Given the description of an element on the screen output the (x, y) to click on. 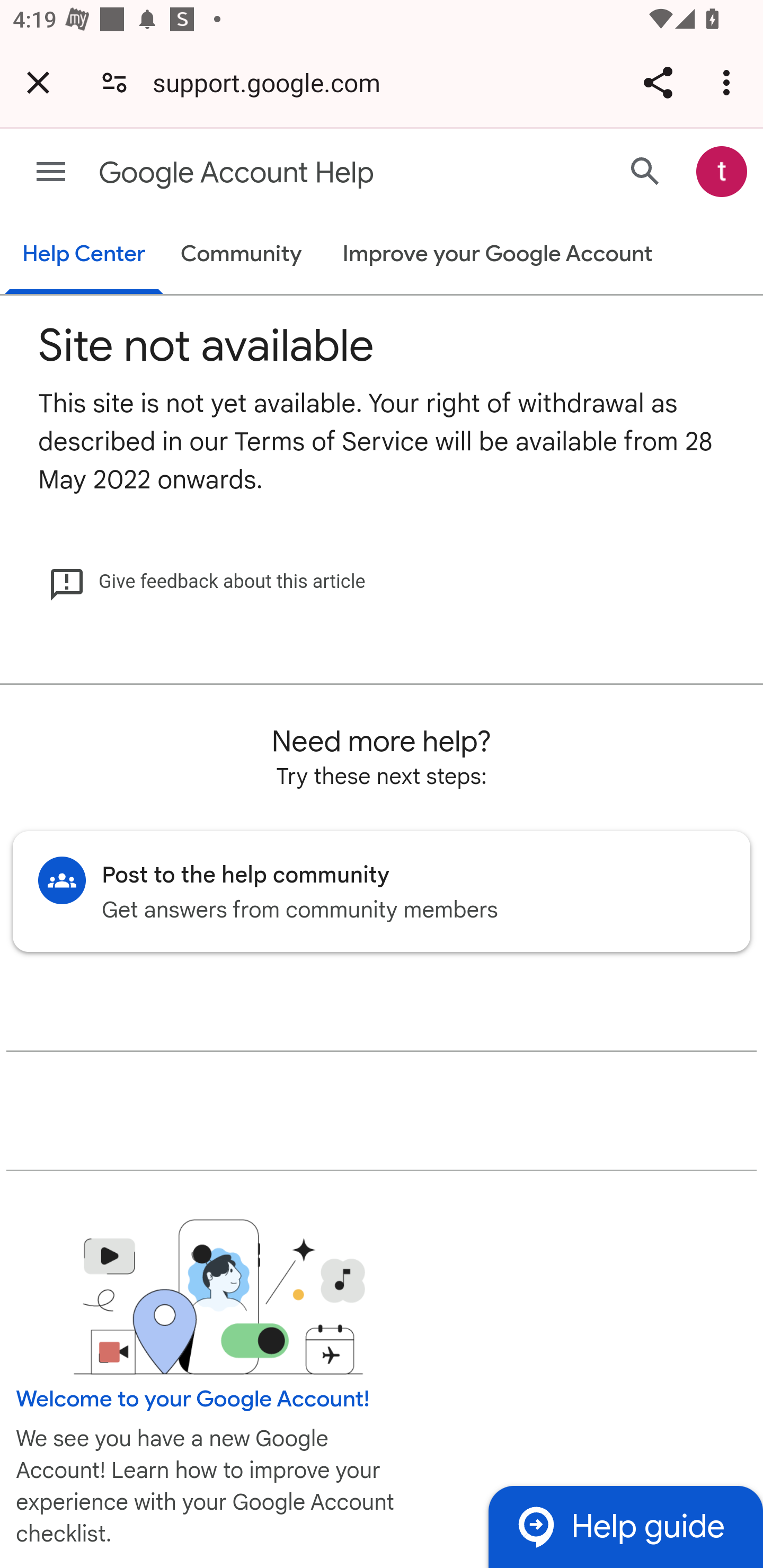
Close tab (38, 82)
Share (657, 82)
Customize and control Google Chrome (729, 82)
Connection is secure (114, 81)
support.google.com (272, 81)
Main menu (50, 171)
Google Account Help (311, 173)
Search Help Center (645, 171)
Help Center (83, 255)
Community (240, 253)
Improve your Google Account (497, 253)
Give feedback about this article (206, 581)
Learning Center home page image (219, 1297)
Welcome to your Google Account! (193, 1399)
Help guide (625, 1527)
